Given the description of an element on the screen output the (x, y) to click on. 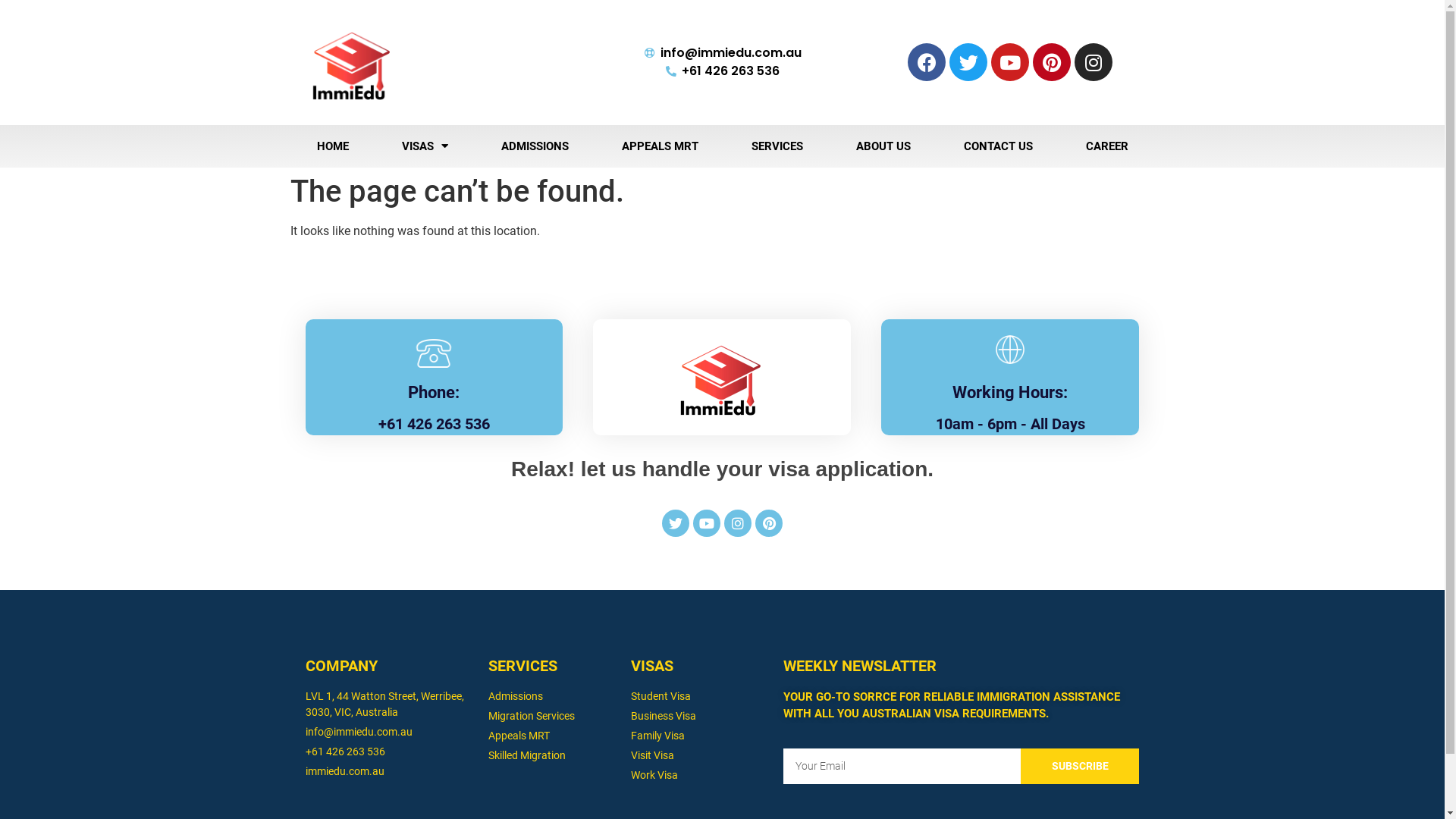
HOME Element type: text (331, 146)
Skilled Migration Element type: text (551, 755)
Phone: Element type: text (433, 391)
SUBSCRIBE Element type: text (1079, 766)
Admissions Element type: text (551, 696)
+61 426 263 536 Element type: text (721, 71)
+61 426 263 536 Element type: text (388, 751)
Student Visa Element type: text (699, 696)
Appeals MRT Element type: text (551, 735)
info@immiedu.com.au Element type: text (388, 732)
VISAS Element type: text (423, 146)
Family Visa Element type: text (699, 735)
info@immiedu.com.au Element type: text (721, 52)
ADMISSIONS Element type: text (534, 146)
CONTACT US Element type: text (998, 146)
SERVICES Element type: text (776, 146)
immiedu.com.au Element type: text (388, 771)
CAREER Element type: text (1106, 146)
Business Visa Element type: text (699, 716)
APPEALS MRT Element type: text (659, 146)
Work Visa Element type: text (699, 775)
Visit Visa Element type: text (699, 755)
ABOUT US Element type: text (883, 146)
Migration Services Element type: text (551, 716)
